Given the description of an element on the screen output the (x, y) to click on. 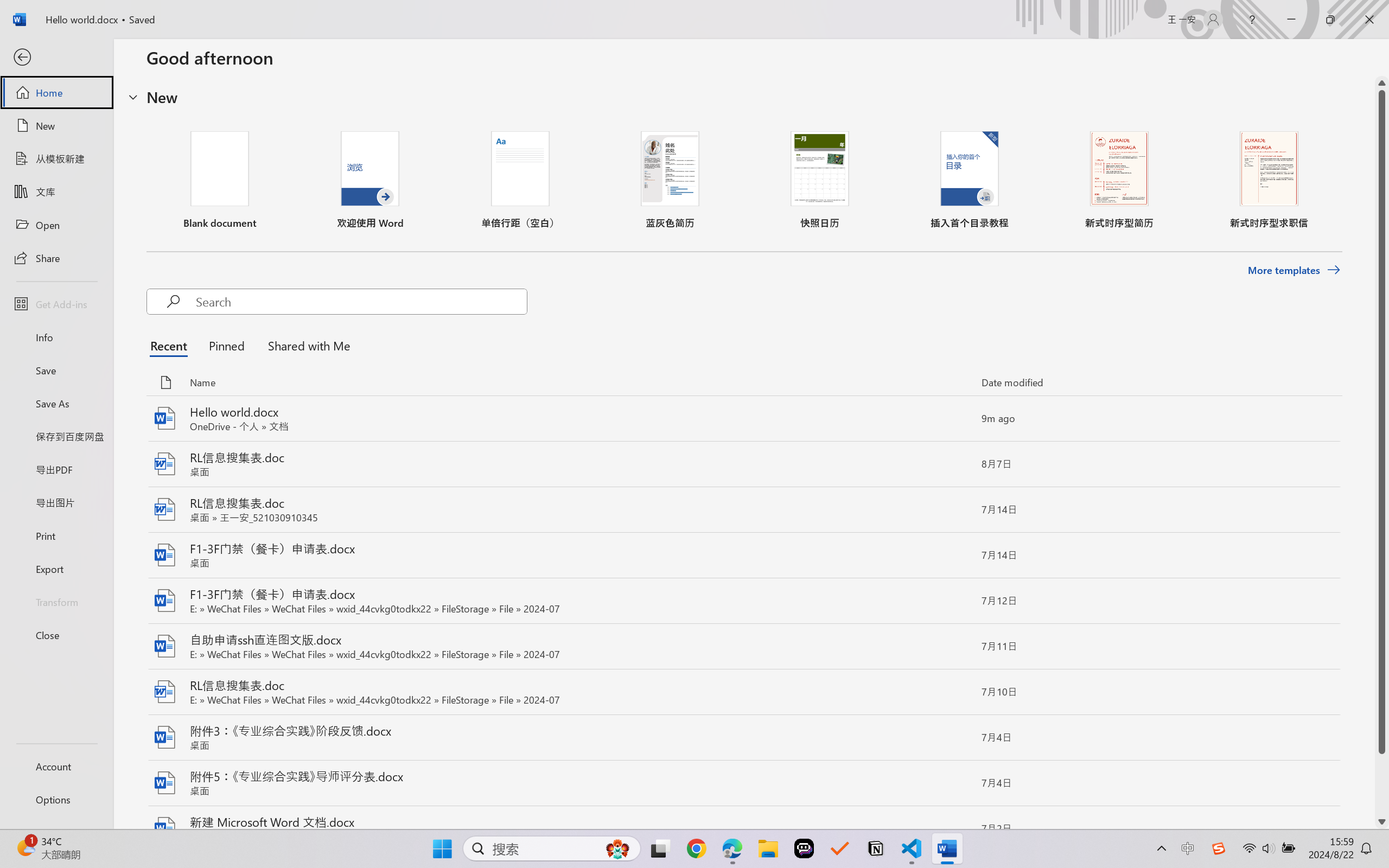
Line up (1382, 83)
Blank document (219, 180)
AutomationID: DynamicSearchBoxGleamImage (617, 848)
Back (56, 57)
Save (56, 370)
Transform (56, 601)
Restore Down (1330, 19)
